Given the description of an element on the screen output the (x, y) to click on. 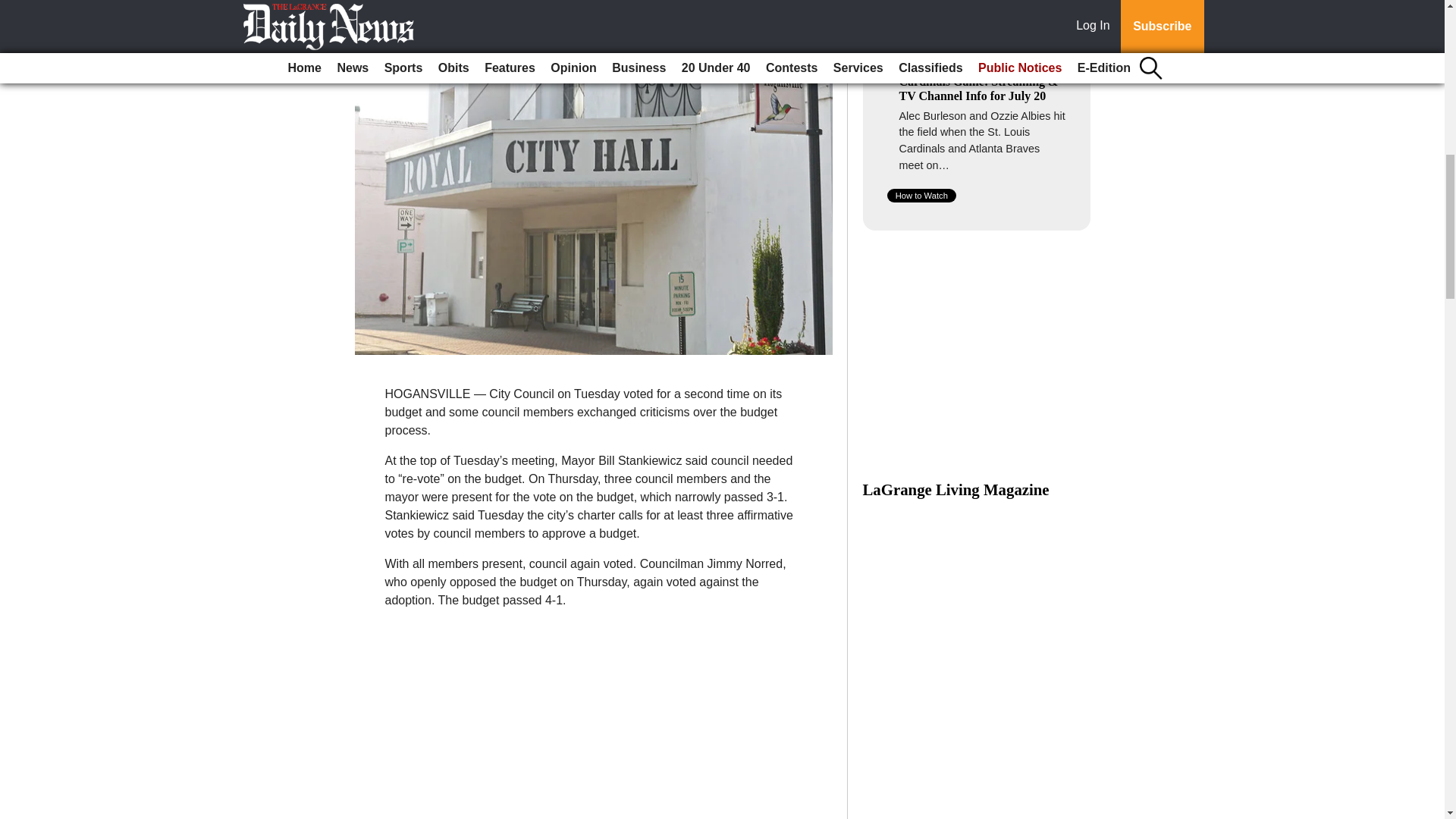
How to Watch (921, 195)
